Given the description of an element on the screen output the (x, y) to click on. 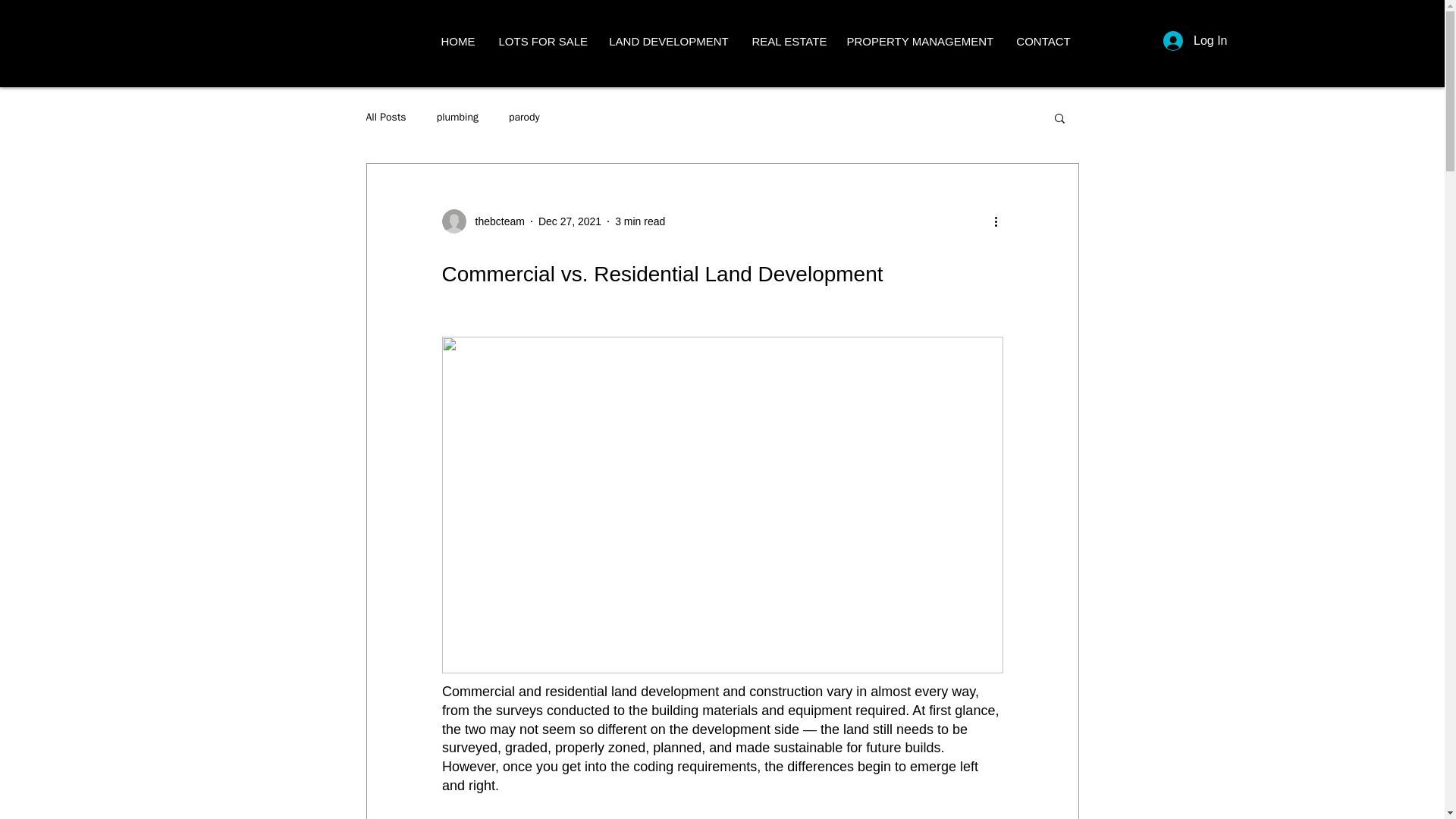
All Posts (385, 117)
thebcteam (494, 221)
plumbing (457, 117)
parody (524, 117)
Log In (1195, 40)
3 min read (639, 221)
LOTS FOR SALE (541, 40)
HOME (458, 40)
PROPERTY MANAGEMENT (919, 40)
CONTACT (1042, 40)
REAL ESTATE (786, 40)
Dec 27, 2021 (569, 221)
LAND DEVELOPMENT (668, 40)
thebcteam (482, 221)
